Given the description of an element on the screen output the (x, y) to click on. 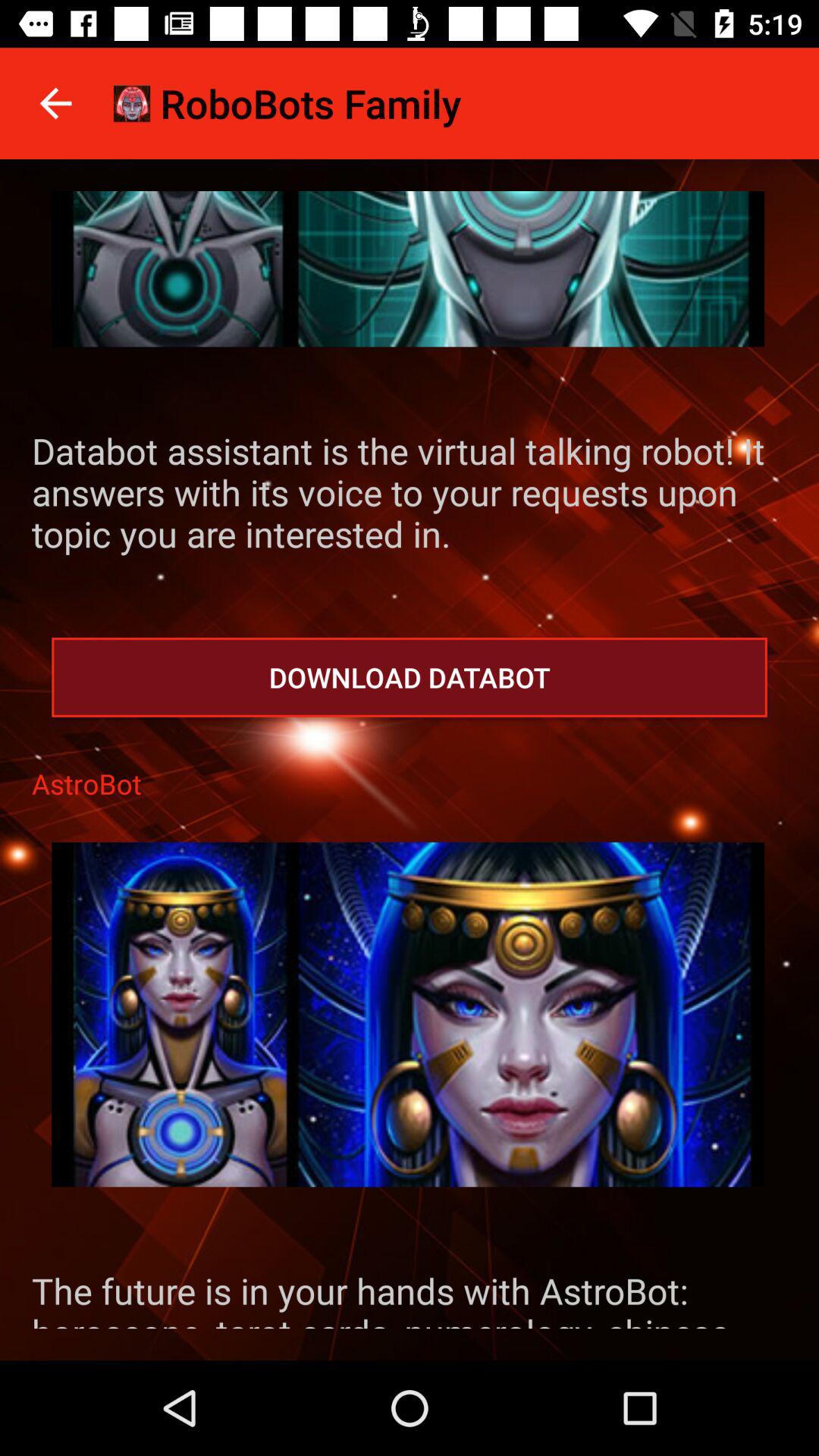
game option (407, 1014)
